Given the description of an element on the screen output the (x, y) to click on. 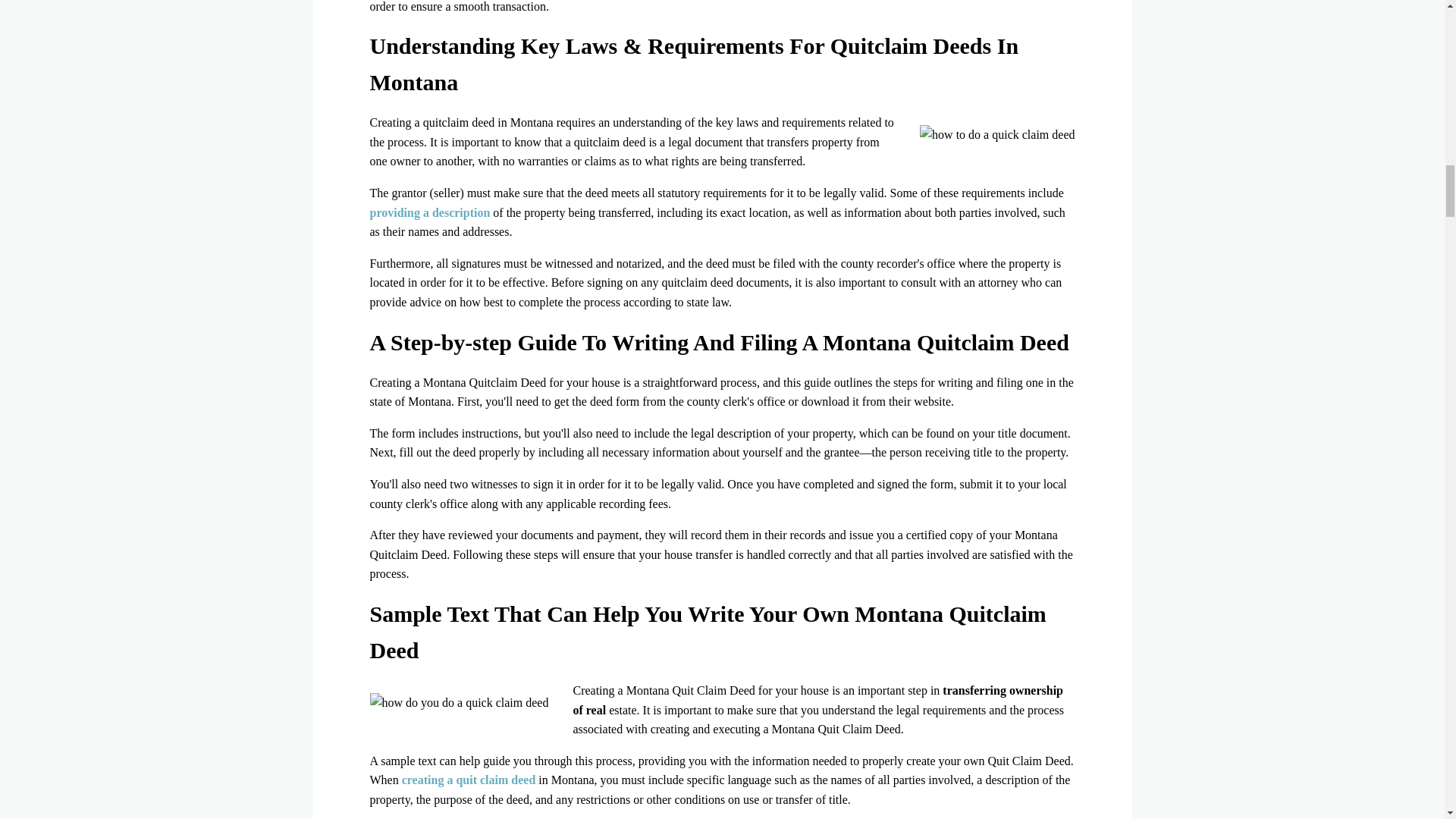
creating a quit claim deed (468, 779)
providing a description (429, 212)
